Given the description of an element on the screen output the (x, y) to click on. 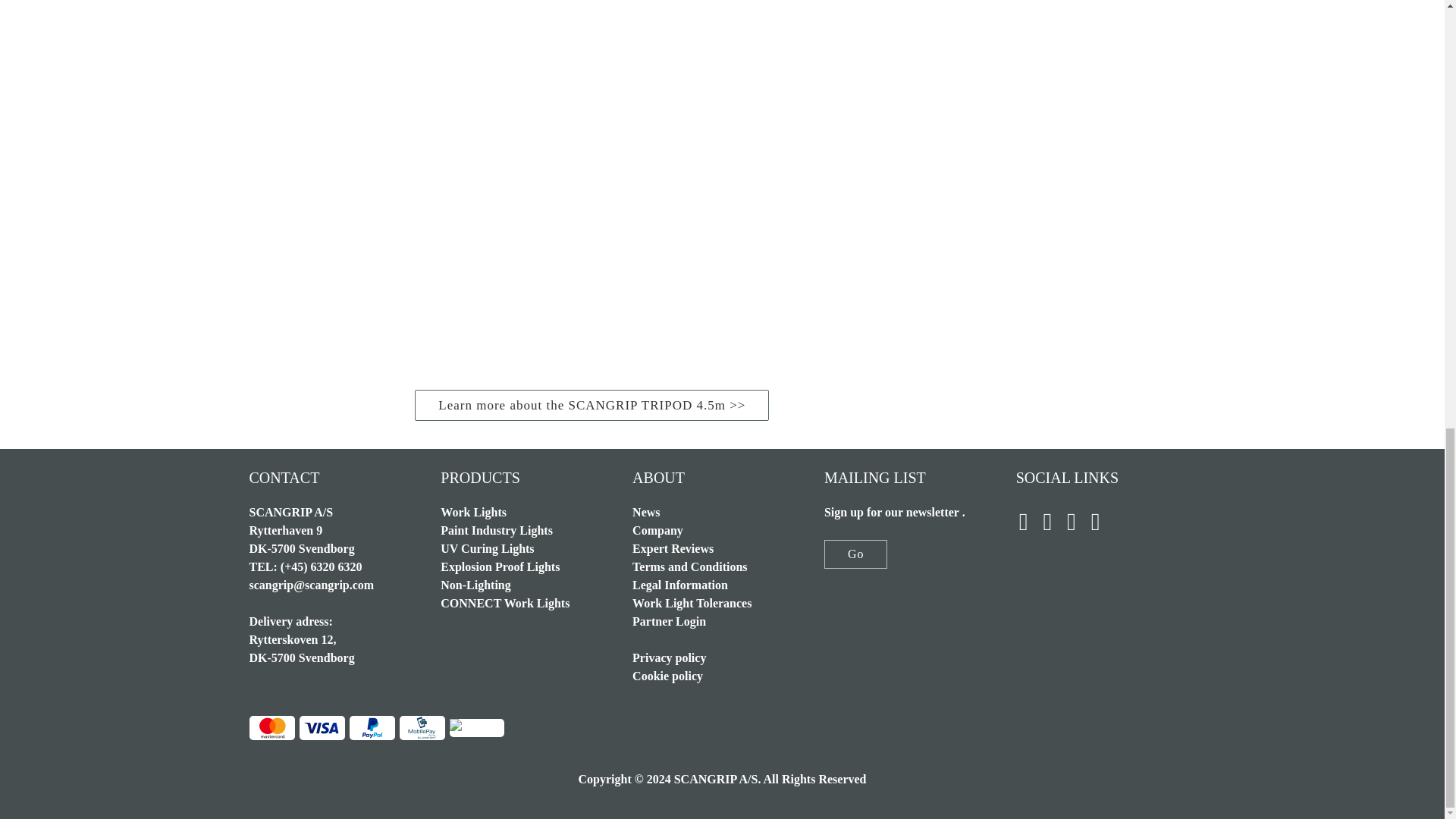
Legal information (679, 584)
Go to company profile (656, 530)
Go to the SCANGRIP Partnersite (668, 621)
Go to work lights (473, 512)
Go to painting industry lights (497, 530)
Learn more about SCANGRIP work light tolerances (691, 603)
Go to non-lighting (476, 584)
Go (856, 553)
Go to news (645, 512)
Go to uv-curing lights (487, 548)
Go to explosion proof lights (500, 566)
Read terms and conditions (688, 566)
Mastercard (271, 727)
